Given the description of an element on the screen output the (x, y) to click on. 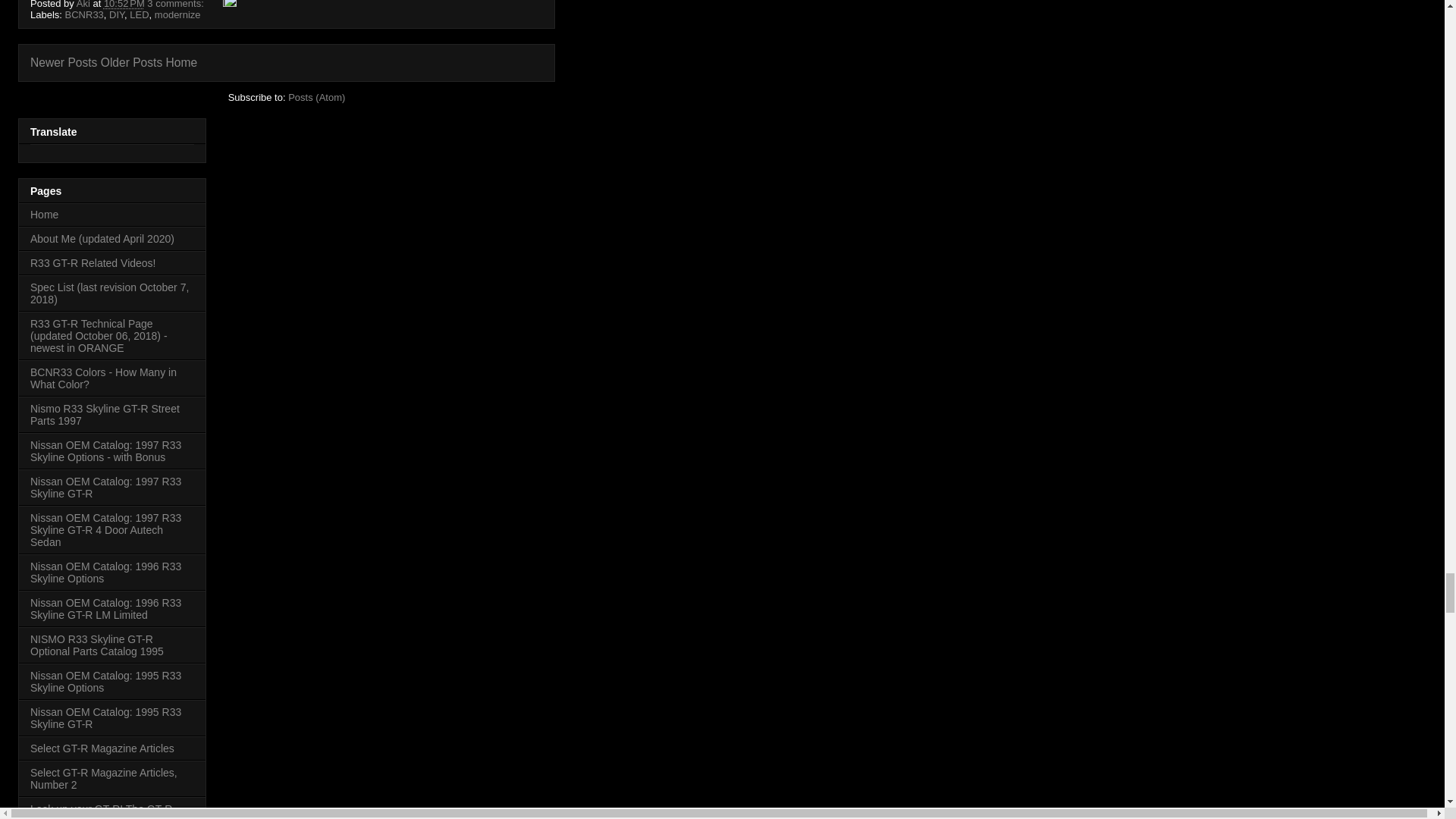
Email Post (214, 4)
Older Posts (130, 62)
Edit Post (228, 4)
author profile (85, 4)
Newer Posts (63, 62)
permanent link (123, 4)
